Given the description of an element on the screen output the (x, y) to click on. 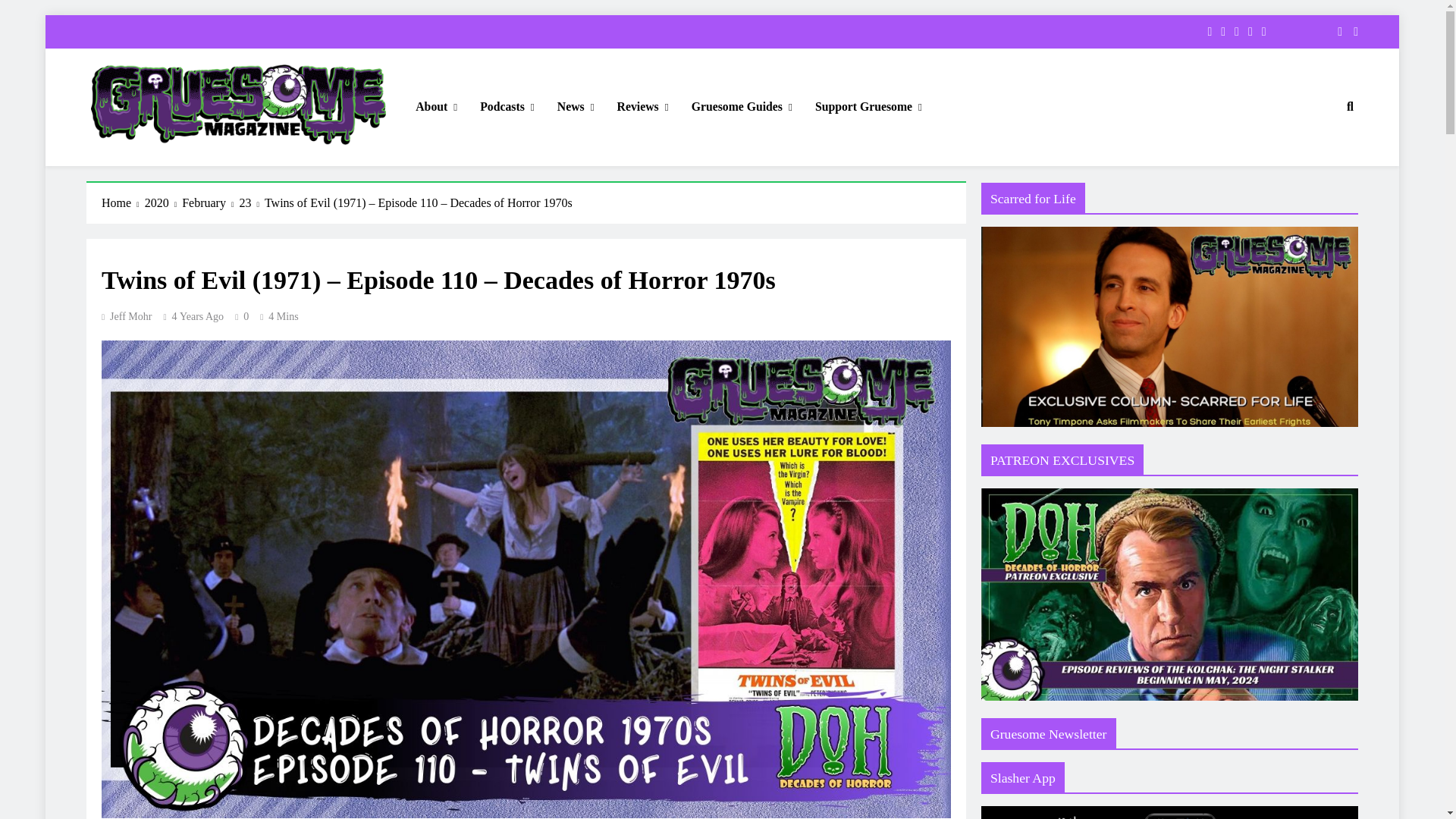
Gruesome Guides (741, 106)
Gruesome Magazine (187, 167)
Reviews (642, 106)
Podcasts (507, 106)
About (436, 106)
Guides to Theatrical and Streaming Movies (741, 106)
News (575, 106)
Support Gruesome (868, 106)
